Given the description of an element on the screen output the (x, y) to click on. 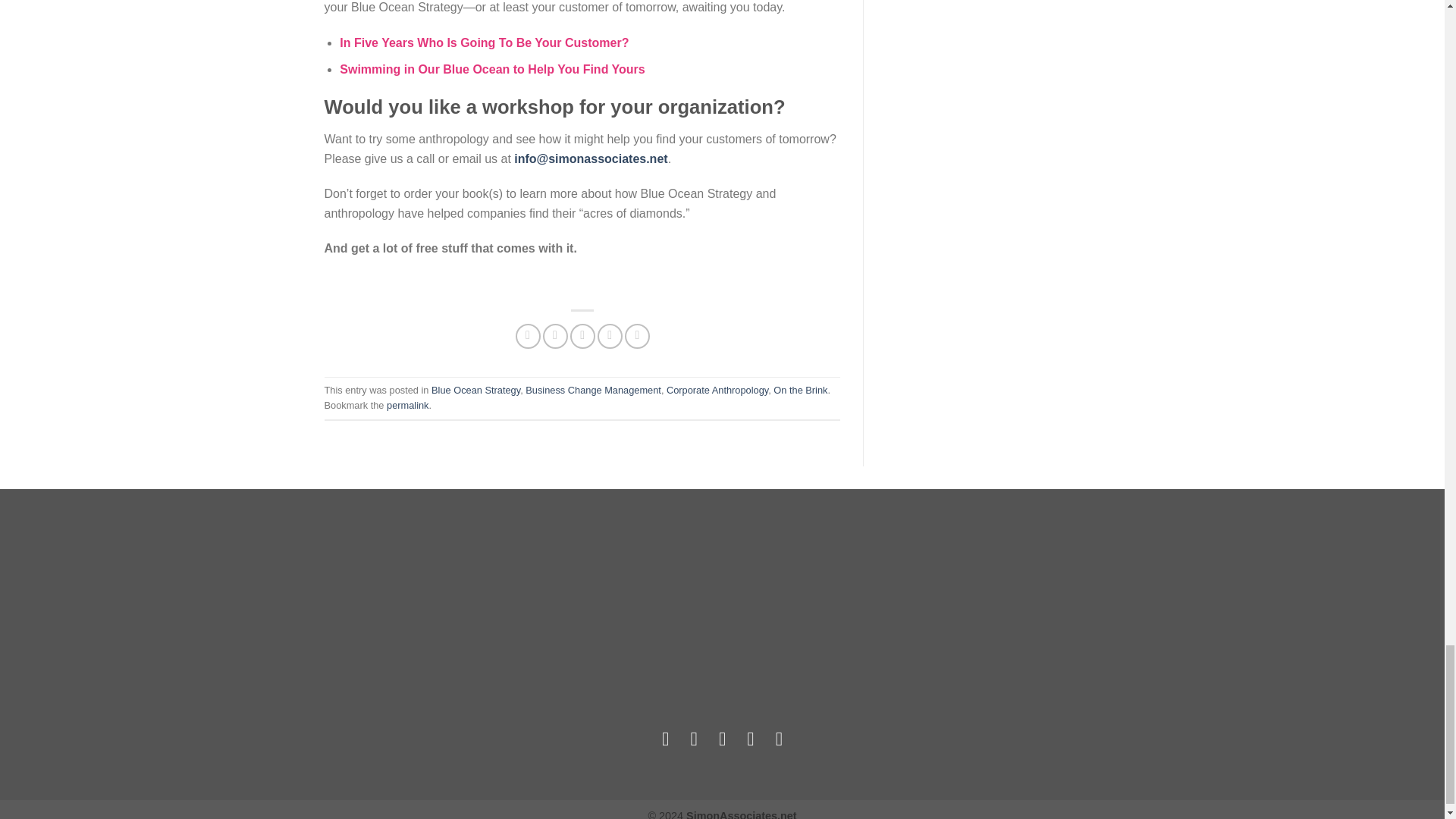
Email to a Friend (582, 335)
Share on Twitter (555, 335)
Share on Facebook (527, 335)
